Given the description of an element on the screen output the (x, y) to click on. 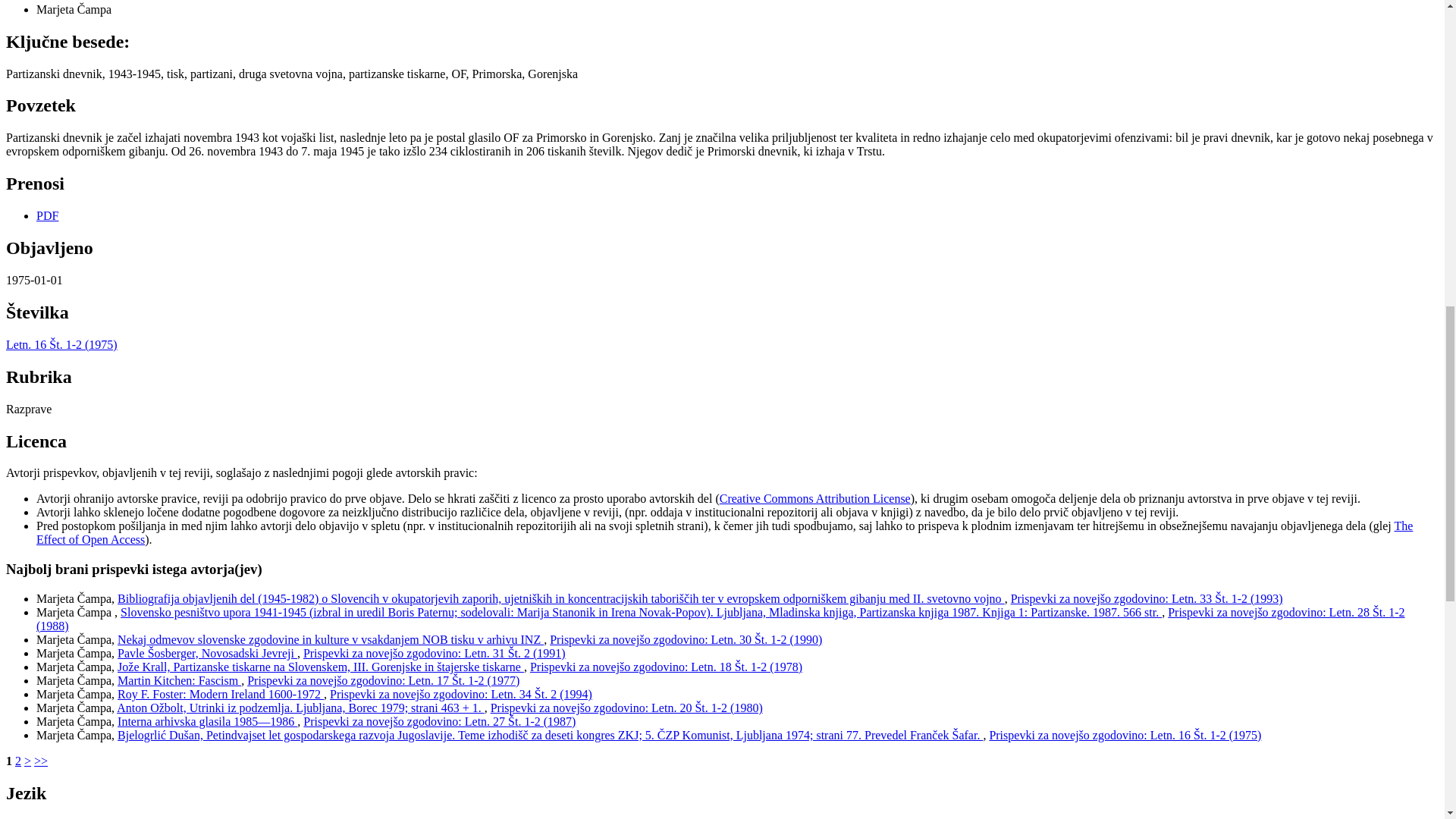
The Effect of Open Access (724, 532)
Roy F. Foster: Modern Ireland 1600-1972 (220, 694)
PDF (47, 215)
Martin Kitchen: Fascism (179, 680)
The Effect of Open Access (724, 532)
Creative Commons (815, 498)
Creative Commons Attribution License (815, 498)
